Given the description of an element on the screen output the (x, y) to click on. 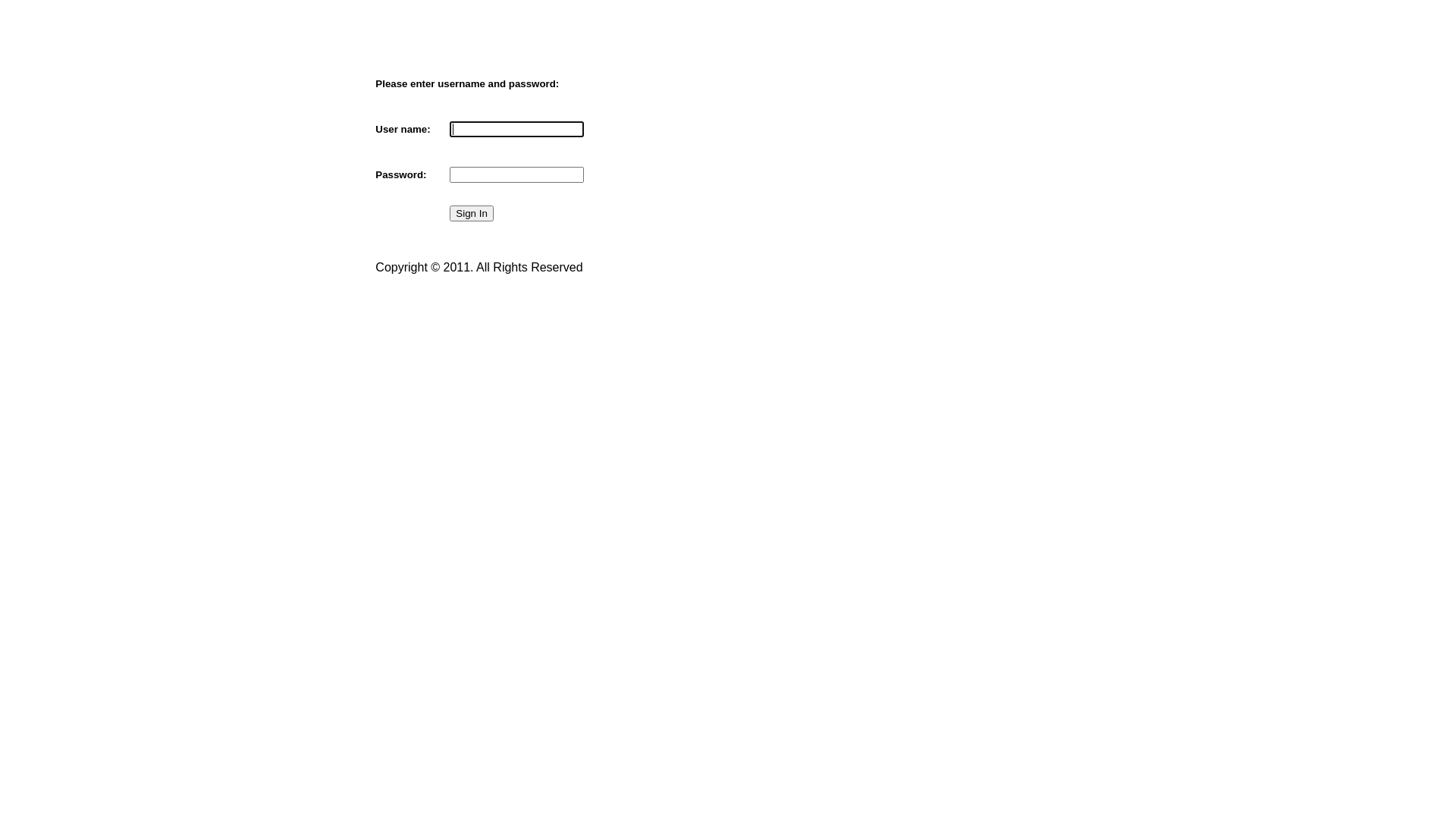
Sign In Element type: text (471, 213)
